Given the description of an element on the screen output the (x, y) to click on. 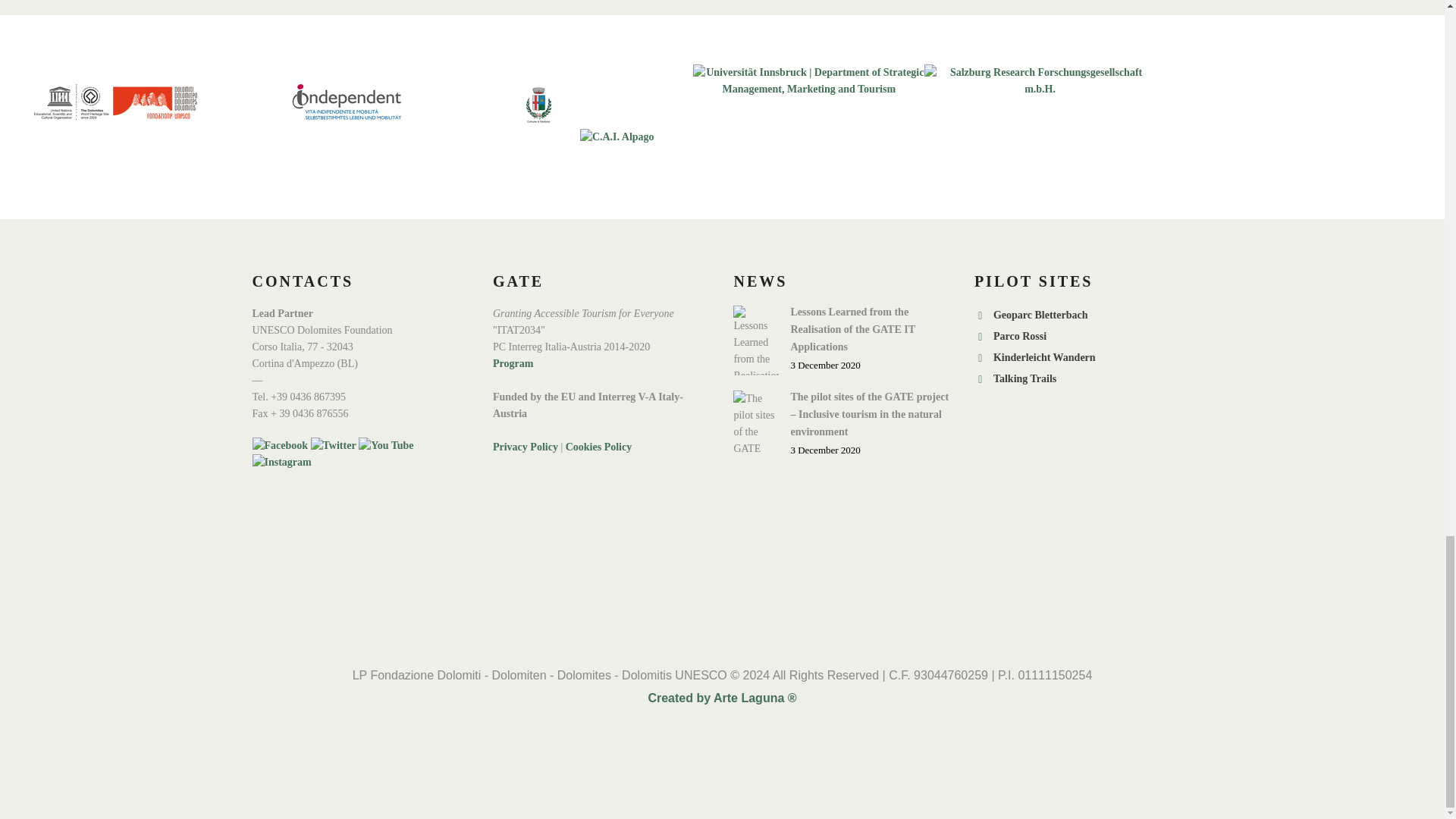
Program (512, 363)
Privacy Policy (525, 446)
